Given the description of an element on the screen output the (x, y) to click on. 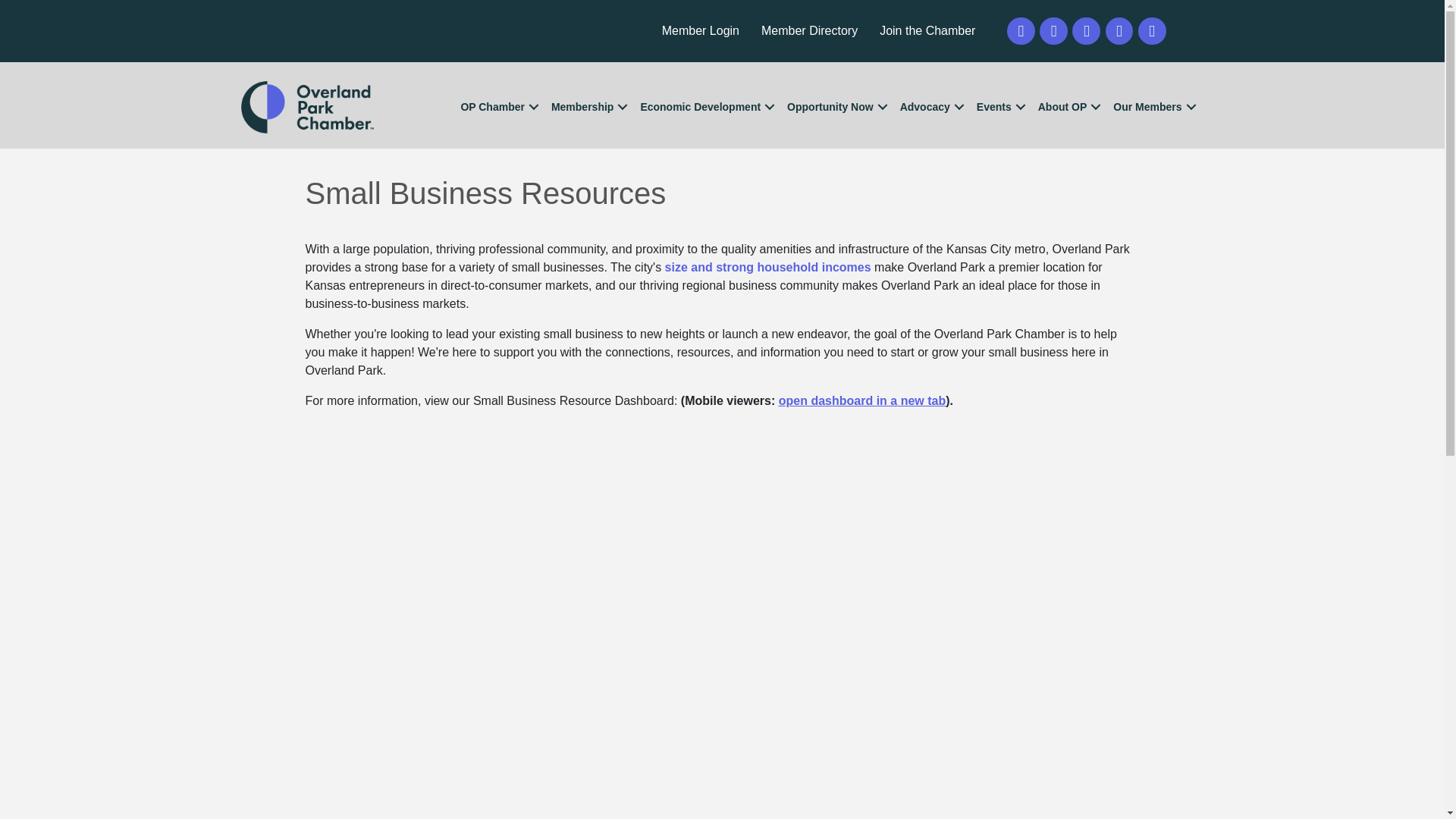
Member Directory (809, 30)
Economic Development (704, 106)
OP Chamber (497, 106)
Join the Chamber (927, 30)
Membership (587, 106)
Member Login (699, 30)
